Given the description of an element on the screen output the (x, y) to click on. 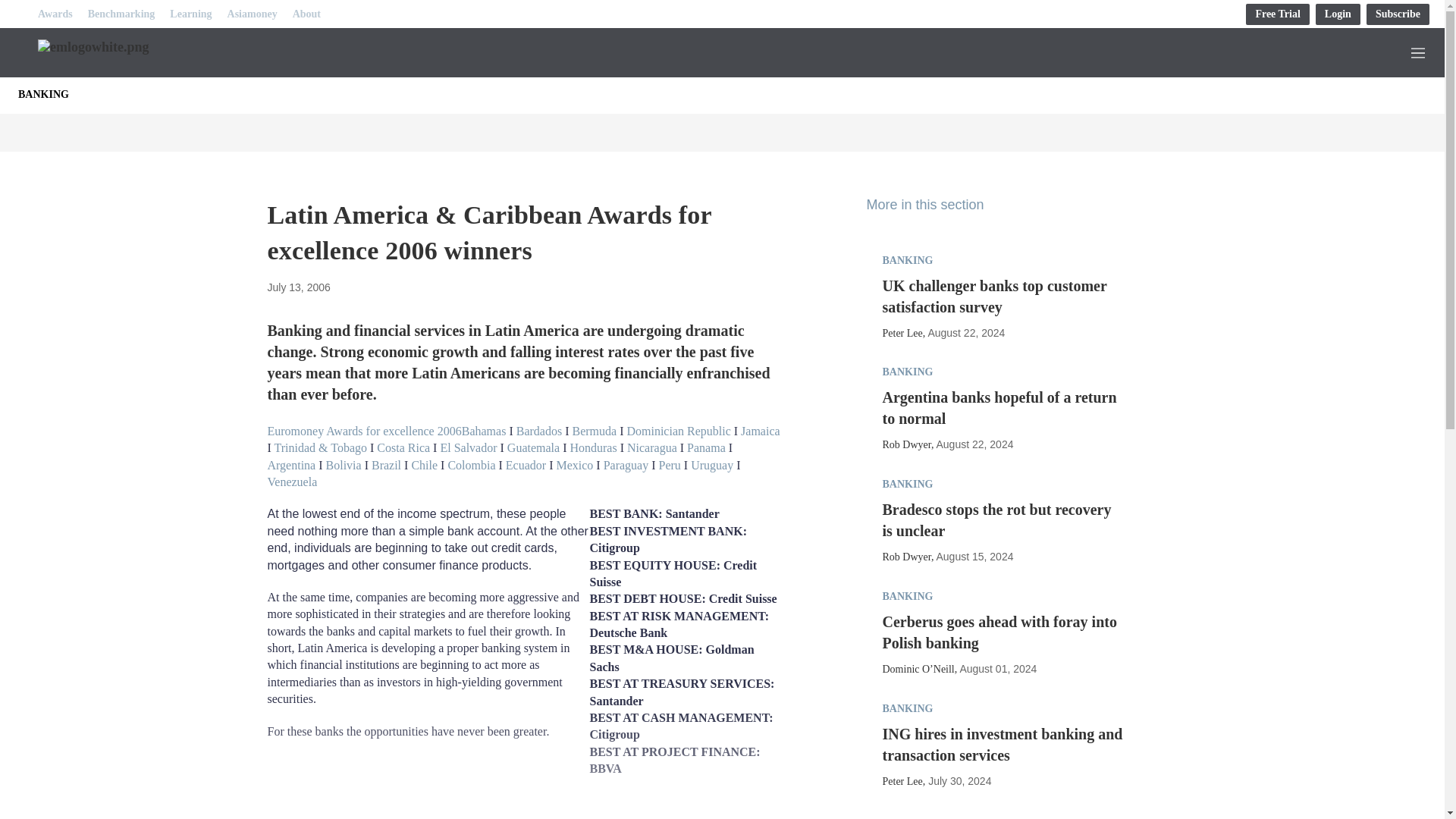
Subscribe (1398, 13)
Learning (190, 13)
Asiamoney (252, 13)
Awards (54, 13)
Login (1337, 13)
Benchmarking (121, 13)
About (306, 13)
Free Trial (1277, 13)
